Given the description of an element on the screen output the (x, y) to click on. 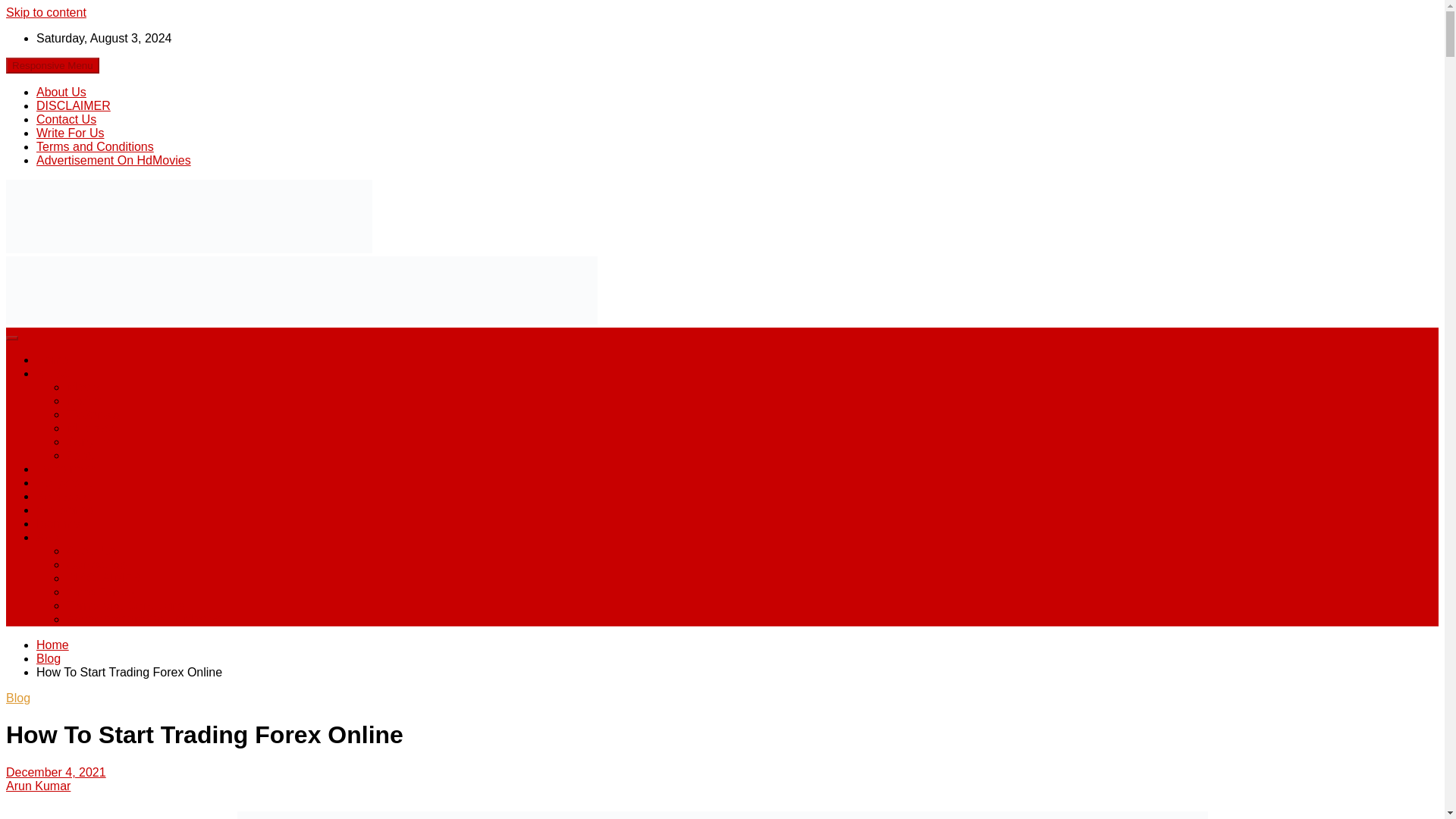
Latestnews (66, 468)
TVSerials (92, 413)
Terms and Conditions (125, 604)
DISCLAIMER (103, 577)
Responsive Menu (52, 65)
Terms and Conditions (95, 146)
Contact Us (96, 563)
BLOG (52, 373)
Arun Kumar (37, 785)
Webseries (64, 509)
How To Start Trading Forex Online (55, 771)
Movie (82, 386)
Blog (48, 658)
DISCLAIMER (73, 105)
Hollywood (64, 481)
